Given the description of an element on the screen output the (x, y) to click on. 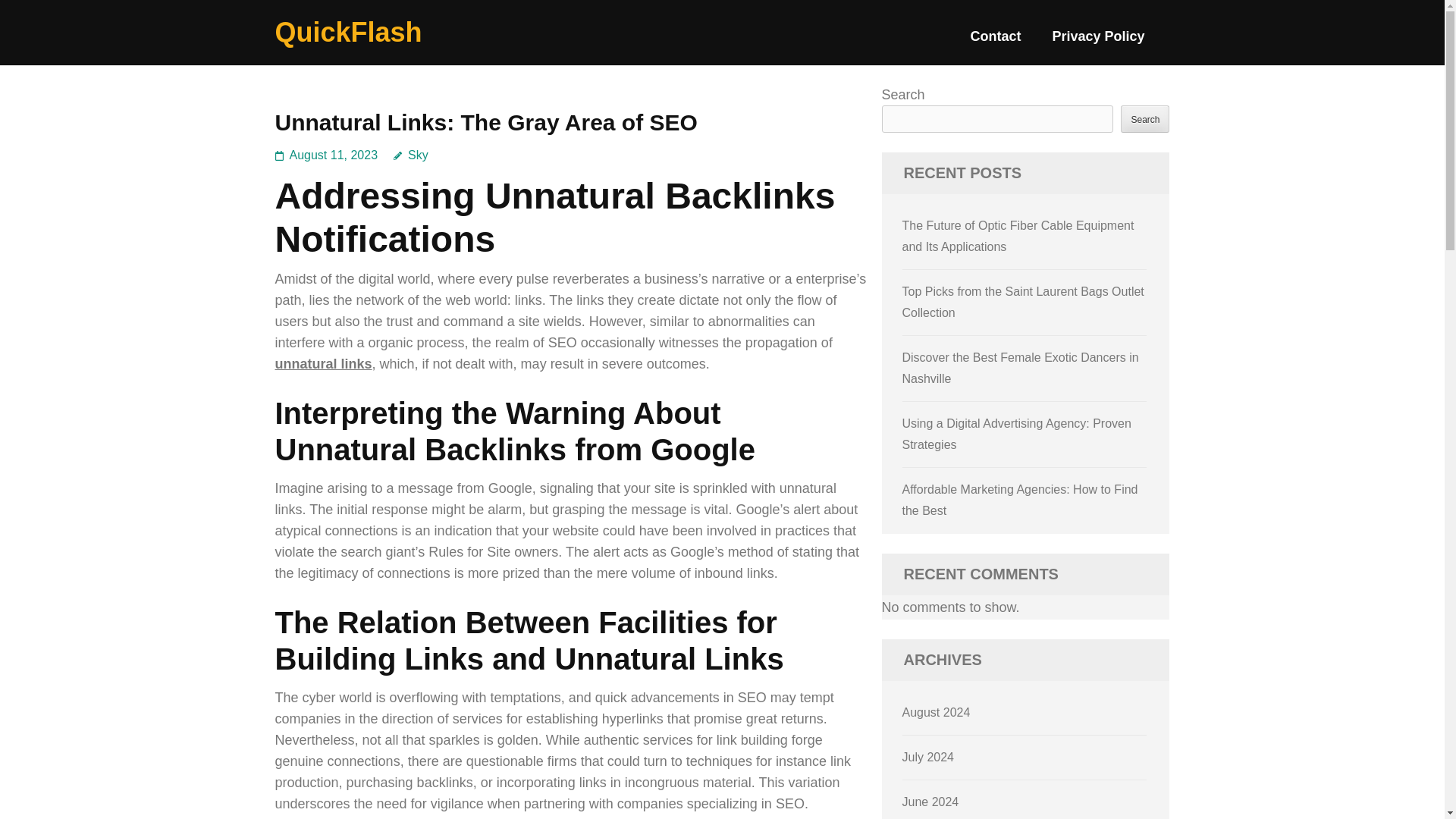
Discover the Best Female Exotic Dancers in Nashville (1020, 367)
Sky (410, 154)
Affordable Marketing Agencies: How to Find the Best (1020, 499)
Privacy Policy (1097, 42)
August 2024 (936, 712)
unnatural links (323, 363)
Using a Digital Advertising Agency: Proven Strategies (1016, 433)
August 11, 2023 (333, 154)
QuickFlash (348, 31)
